Given the description of an element on the screen output the (x, y) to click on. 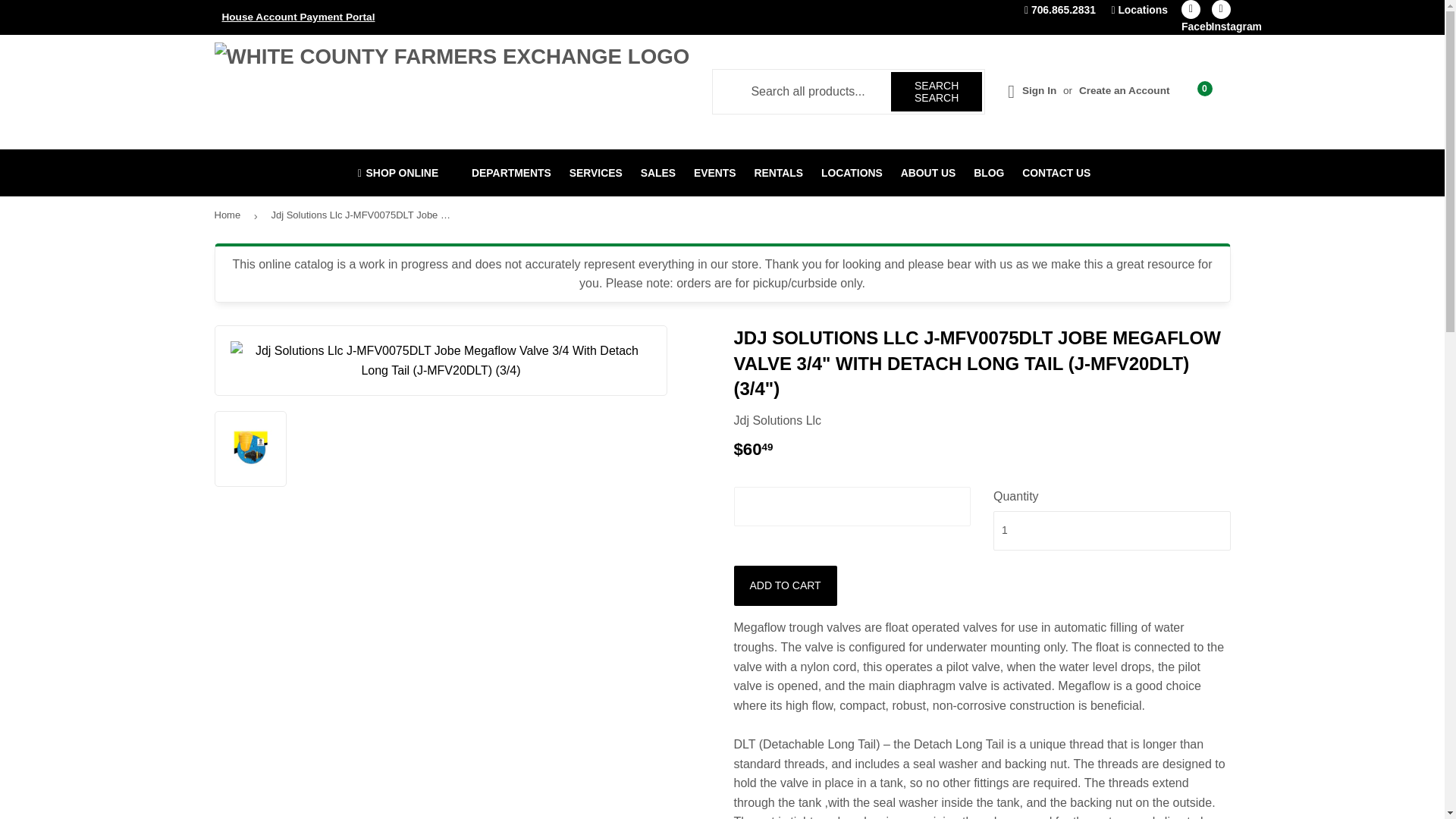
 Locations (1138, 9)
SEARCH SEARCH (936, 91)
White County Farmers Exchange on Instagram (1220, 9)
House Account Payment Portal (457, 17)
White County Farmers Exchange on Facebook (1189, 9)
Open Product Zoom (441, 360)
0 (1207, 91)
 706.865.2831 (1060, 9)
1 (1111, 530)
Instagram (1220, 9)
